Given the description of an element on the screen output the (x, y) to click on. 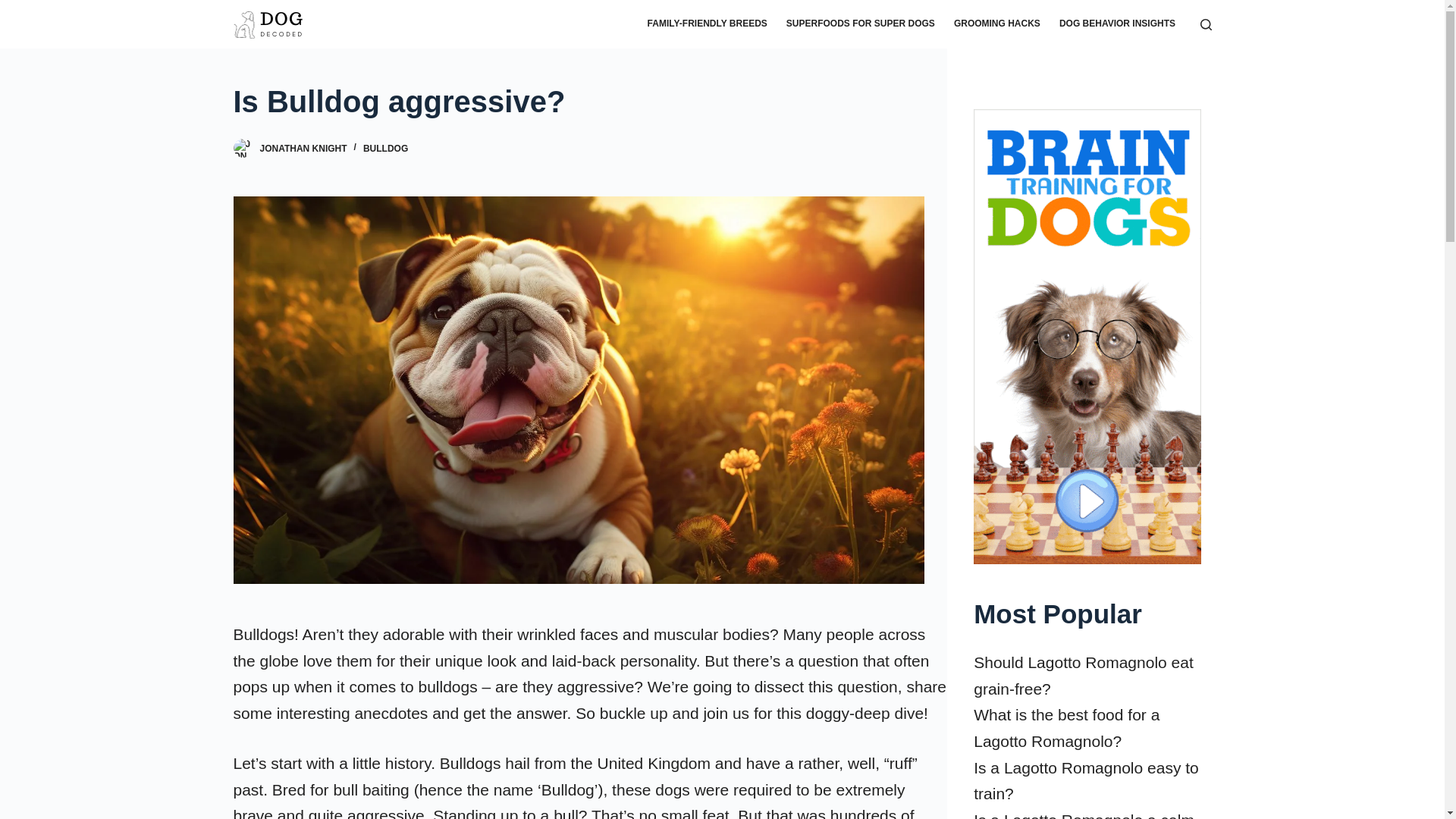
GROOMING HACKS (996, 24)
SUPERFOODS FOR SUPER DOGS (859, 24)
Is a Lagotto Romagnolo a calm dog? (1083, 815)
What is the best food for a Lagotto Romagnolo? (1066, 727)
Is Bulldog aggressive? (589, 101)
JONATHAN KNIGHT (302, 148)
Skip to content (15, 7)
BULLDOG (384, 148)
FAMILY-FRIENDLY BREEDS (706, 24)
Posts by Jonathan Knight (302, 148)
Is a Lagotto Romagnolo easy to train? (1086, 781)
DOG BEHAVIOR INSIGHTS (1117, 24)
Should Lagotto Romagnolo eat grain-free? (1083, 675)
